Given the description of an element on the screen output the (x, y) to click on. 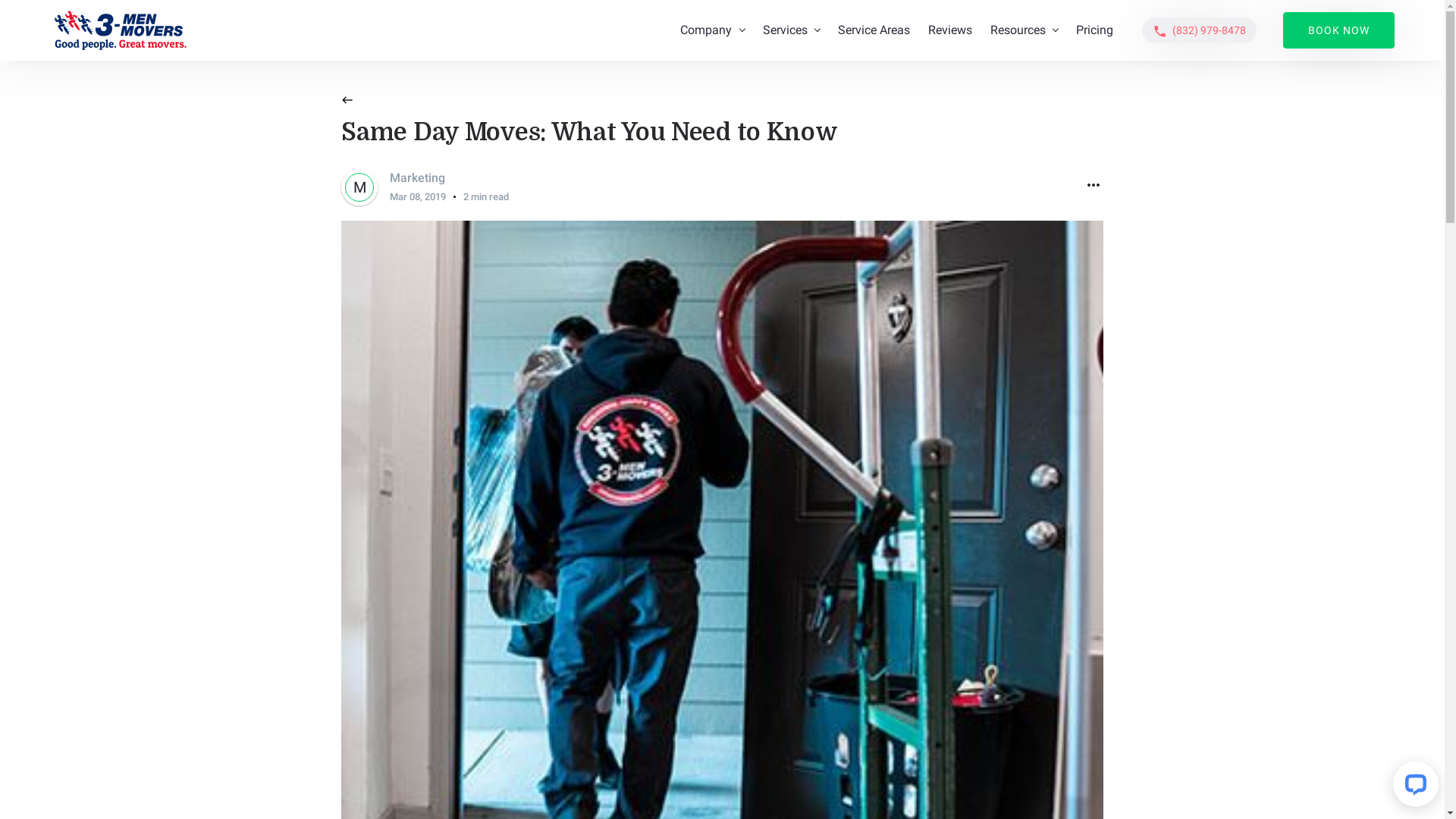
phone(832) 979-8478 Element type: text (1199, 30)
Services Element type: text (790, 30)
Company Element type: text (711, 30)
more_horiz Element type: text (1093, 187)
BOOK NOW Element type: text (1338, 30)
Reviews Element type: text (950, 30)
Service Areas Element type: text (873, 30)
west Element type: text (347, 101)
Pricing Element type: text (1094, 30)
Marketing Element type: text (417, 177)
Resources Element type: text (1023, 30)
